Given the description of an element on the screen output the (x, y) to click on. 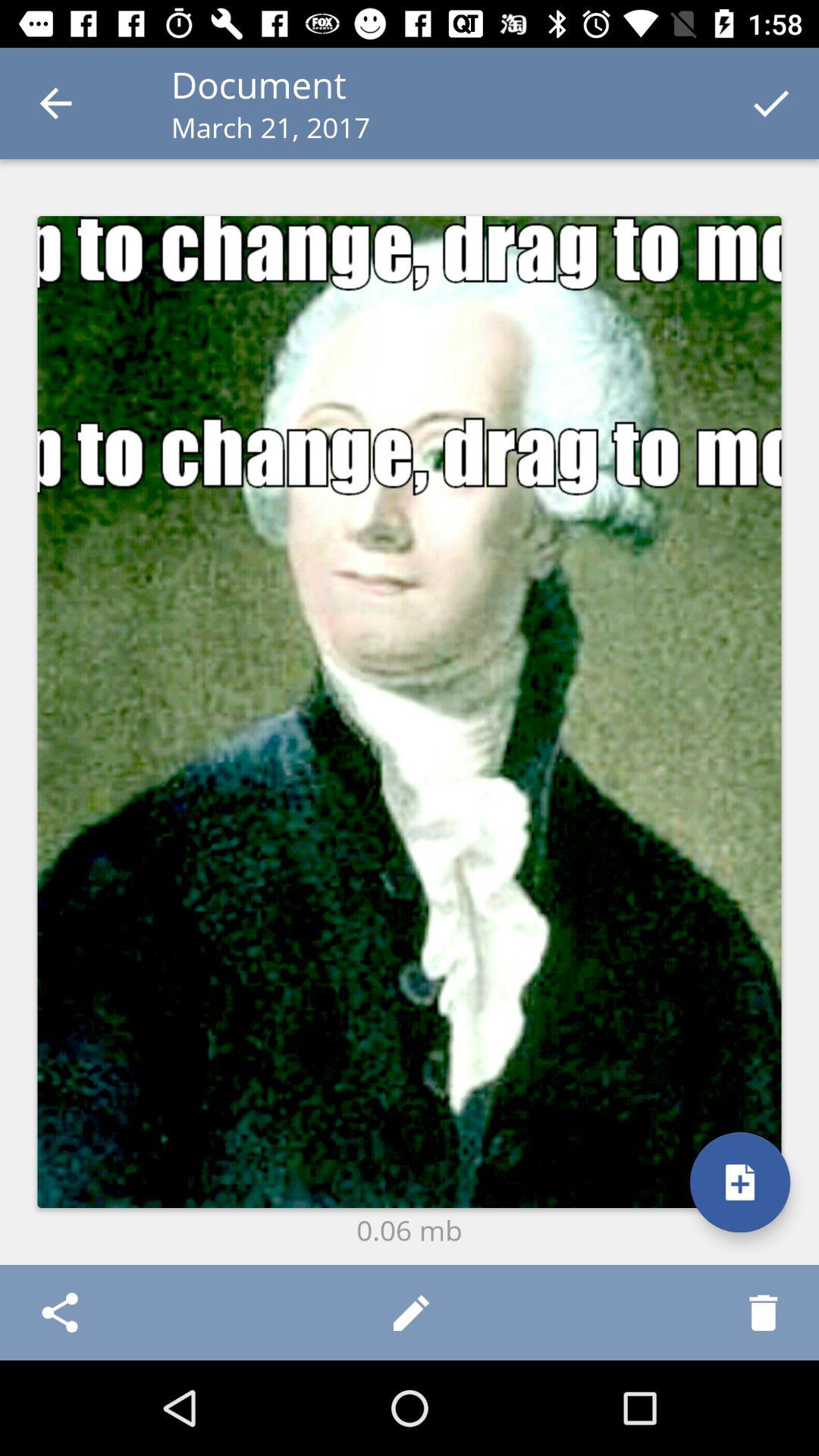
choose icon next to the document item (55, 103)
